Given the description of an element on the screen output the (x, y) to click on. 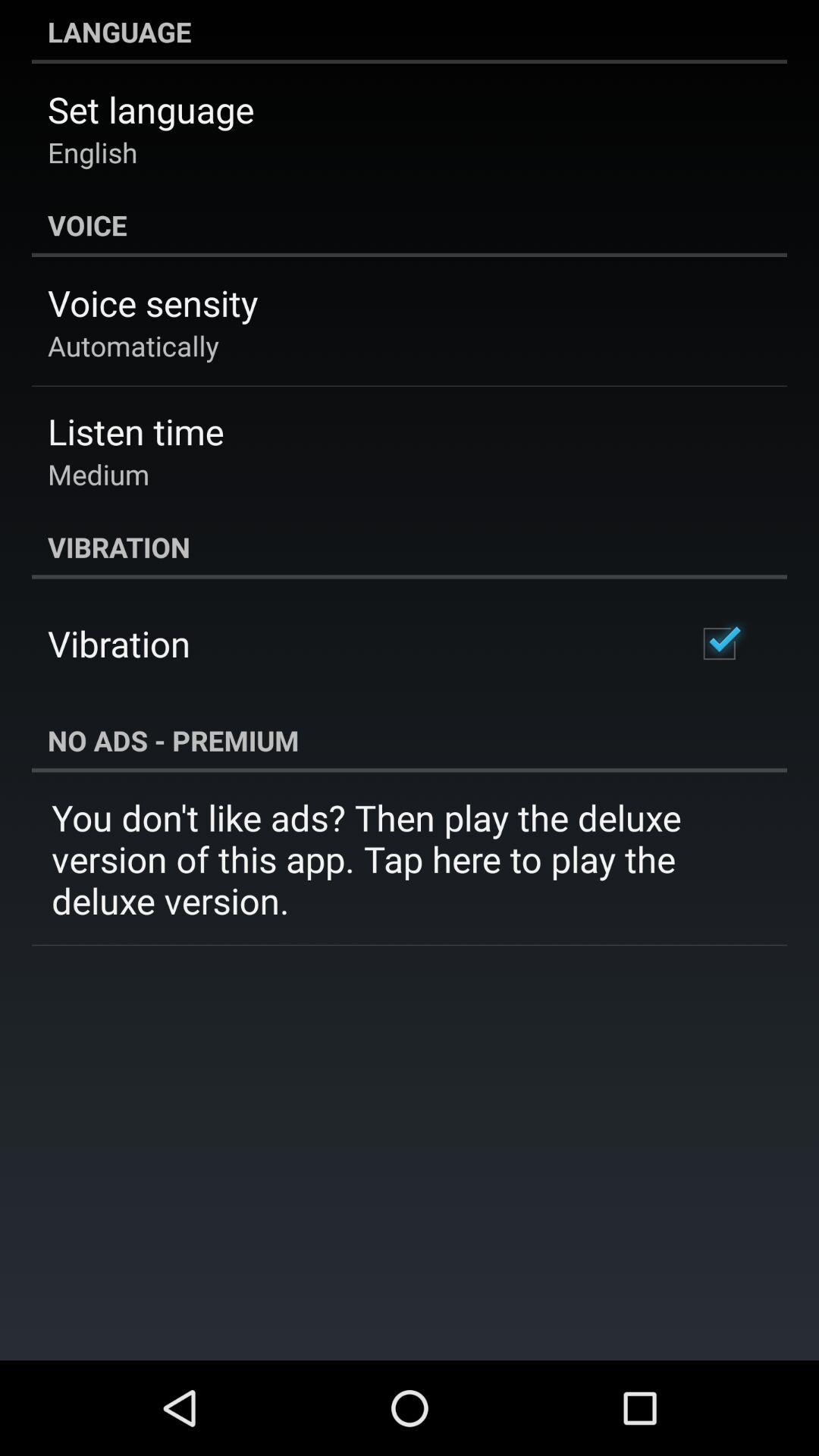
press the automatically app (132, 345)
